Given the description of an element on the screen output the (x, y) to click on. 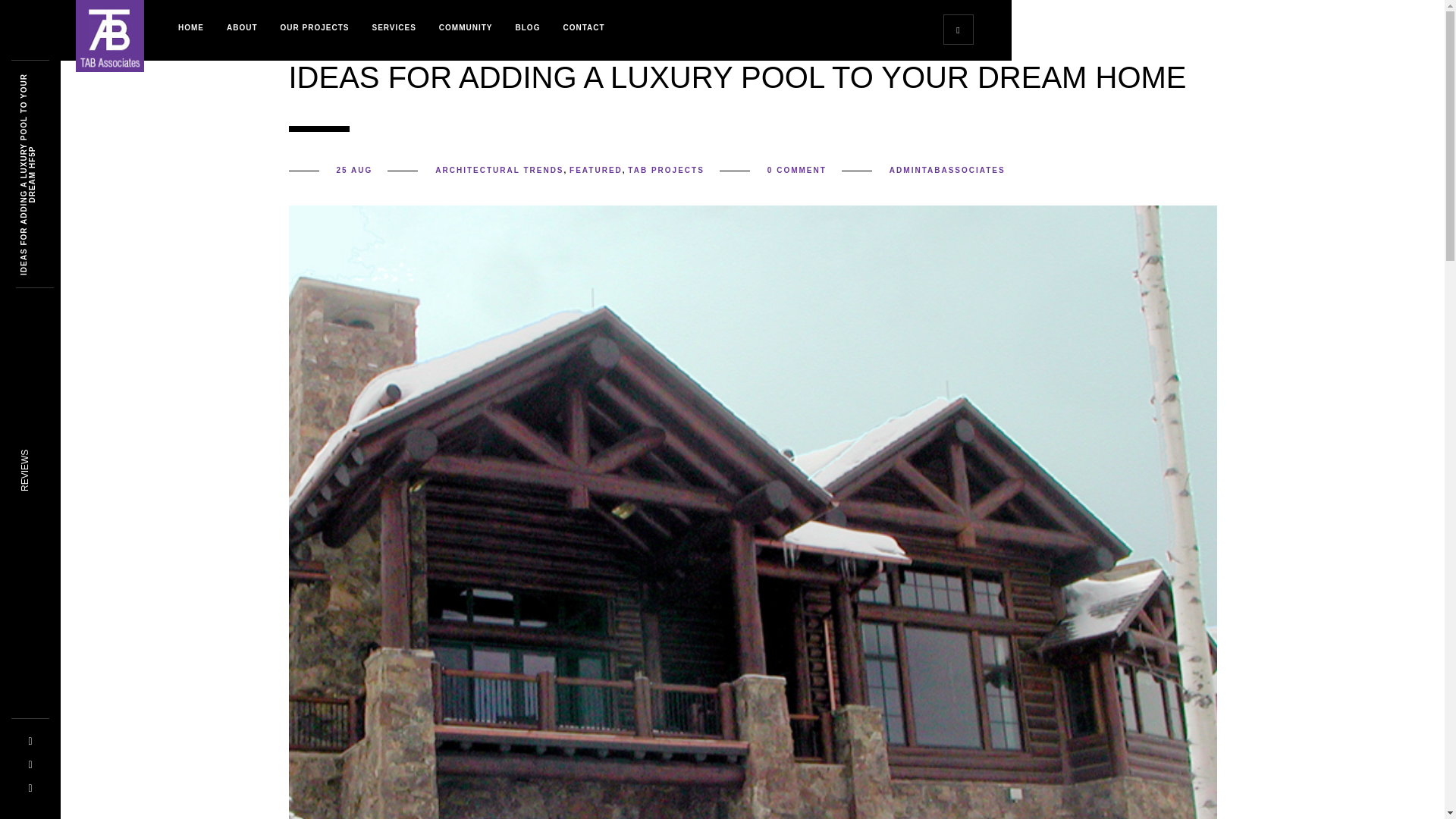
COMMUNITY (465, 27)
BLOG (527, 27)
FEATURED (596, 170)
0 COMMENT (797, 170)
25 AUG (354, 170)
ARCHITECTURAL TRENDS (499, 170)
ABOUT (242, 27)
TAB PROJECTS (665, 170)
OUR PROJECTS (315, 27)
ADMINTABASSOCIATES (947, 170)
SERVICES (392, 27)
Posts by admintabassociates (947, 170)
HOME (191, 27)
CONTACT (583, 27)
